Given the description of an element on the screen output the (x, y) to click on. 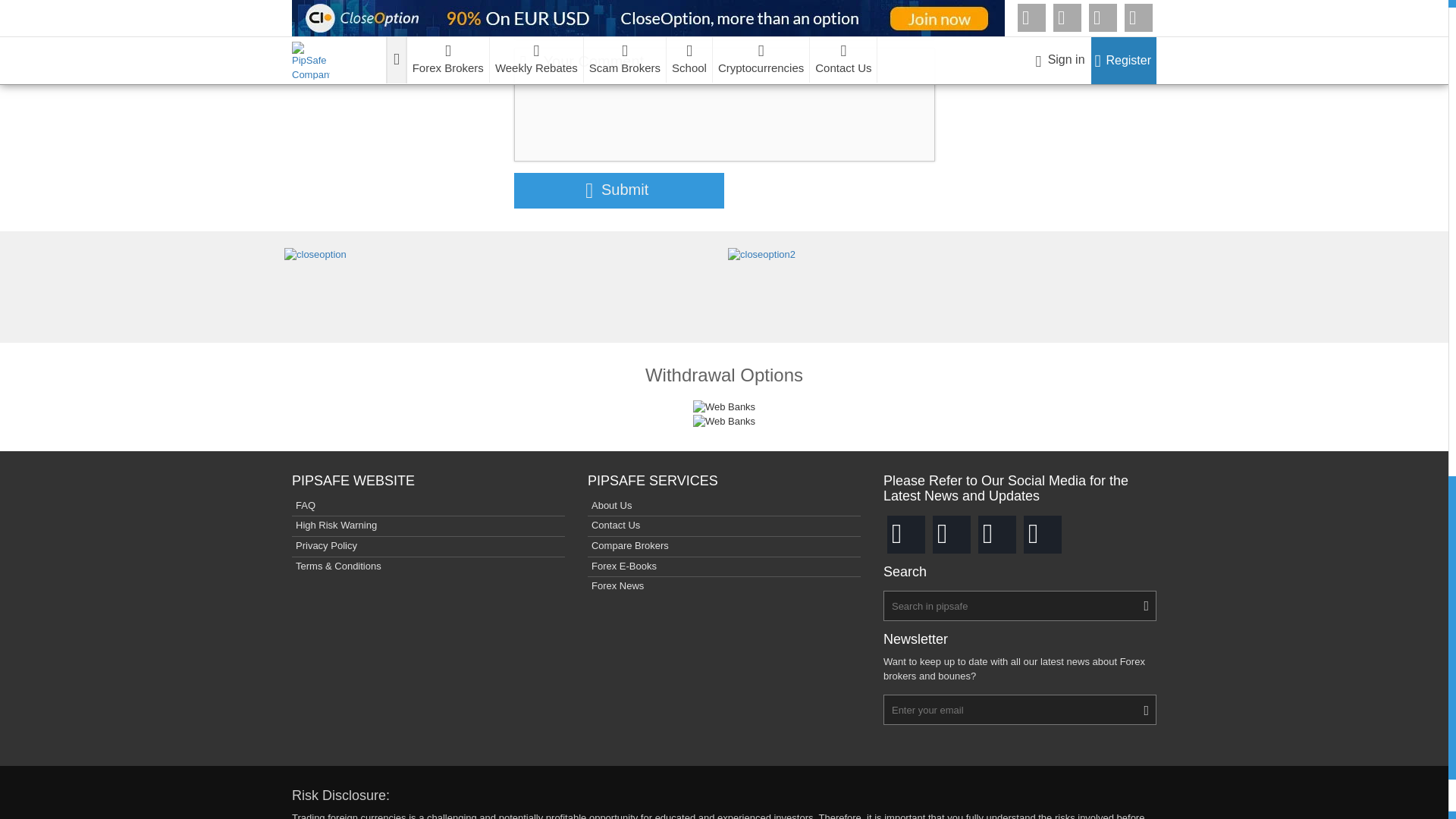
This field is necessary. (723, 104)
Please write a valid email address (723, 24)
